Given the description of an element on the screen output the (x, y) to click on. 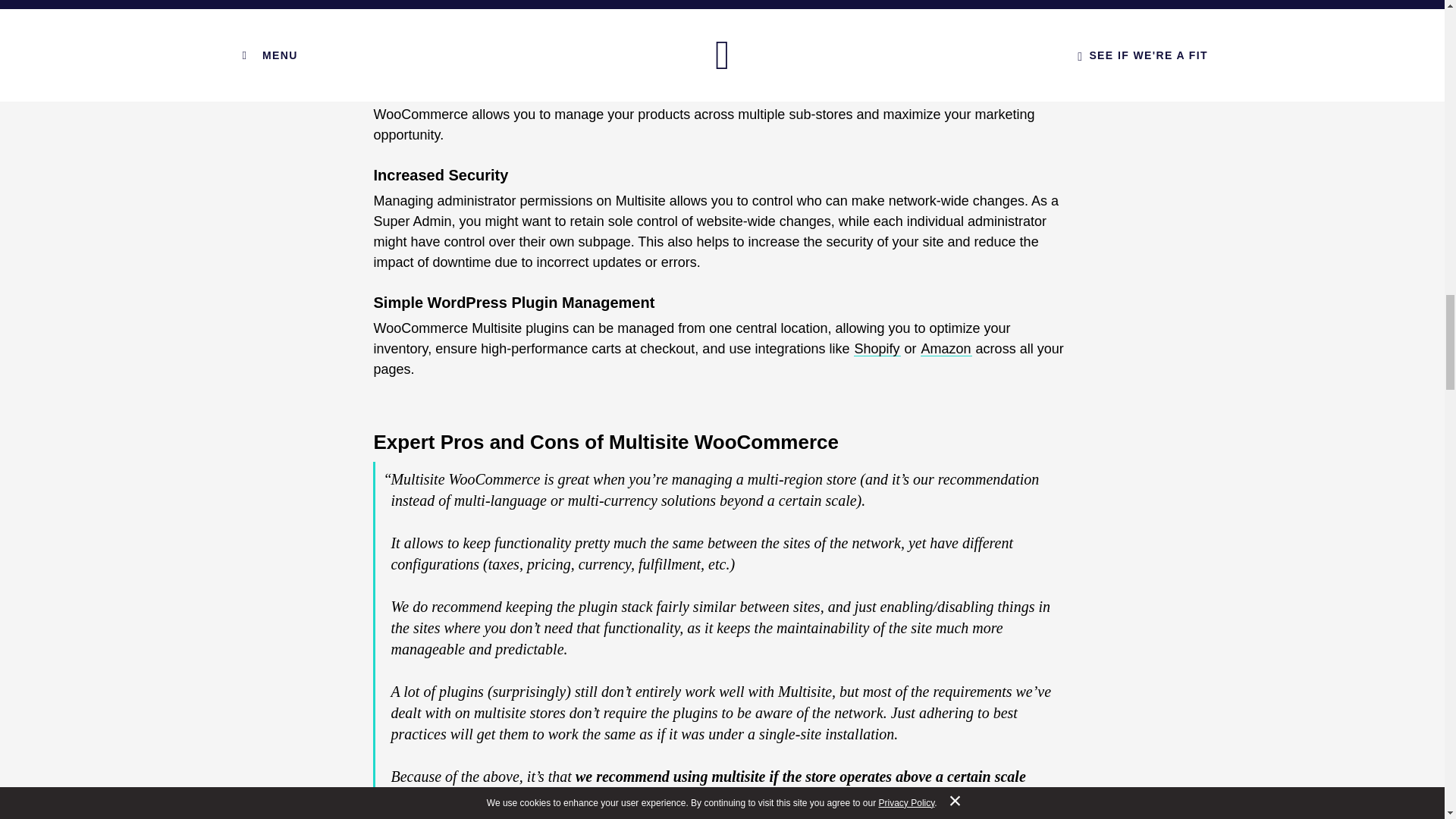
Amazon (946, 348)
Shopify (877, 348)
